Given the description of an element on the screen output the (x, y) to click on. 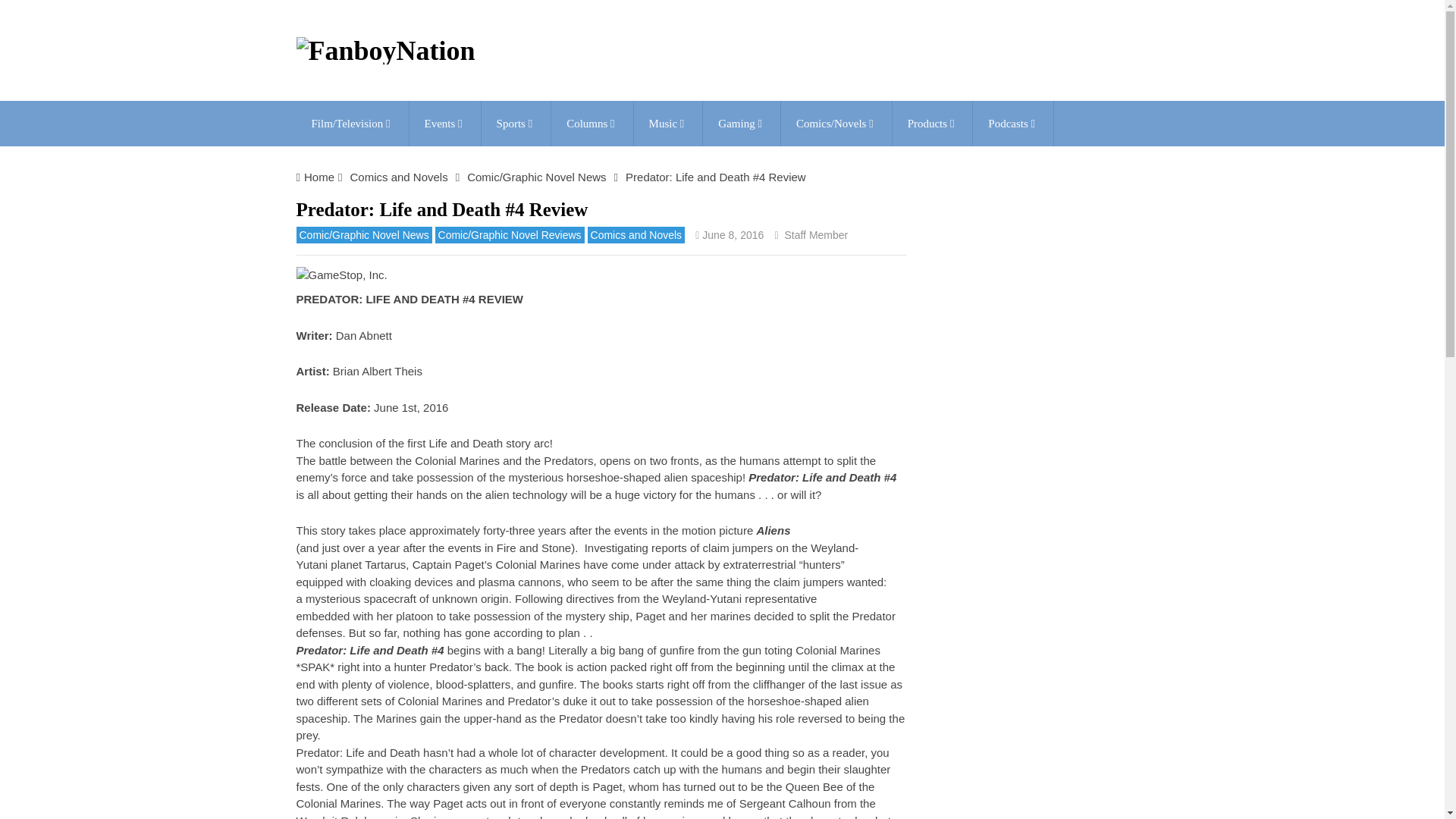
Columns (591, 123)
Sports (516, 123)
Gaming (741, 123)
Music (668, 123)
Podcasts (1012, 123)
Cons and Expos (444, 123)
Events (444, 123)
Products (932, 123)
